Given the description of an element on the screen output the (x, y) to click on. 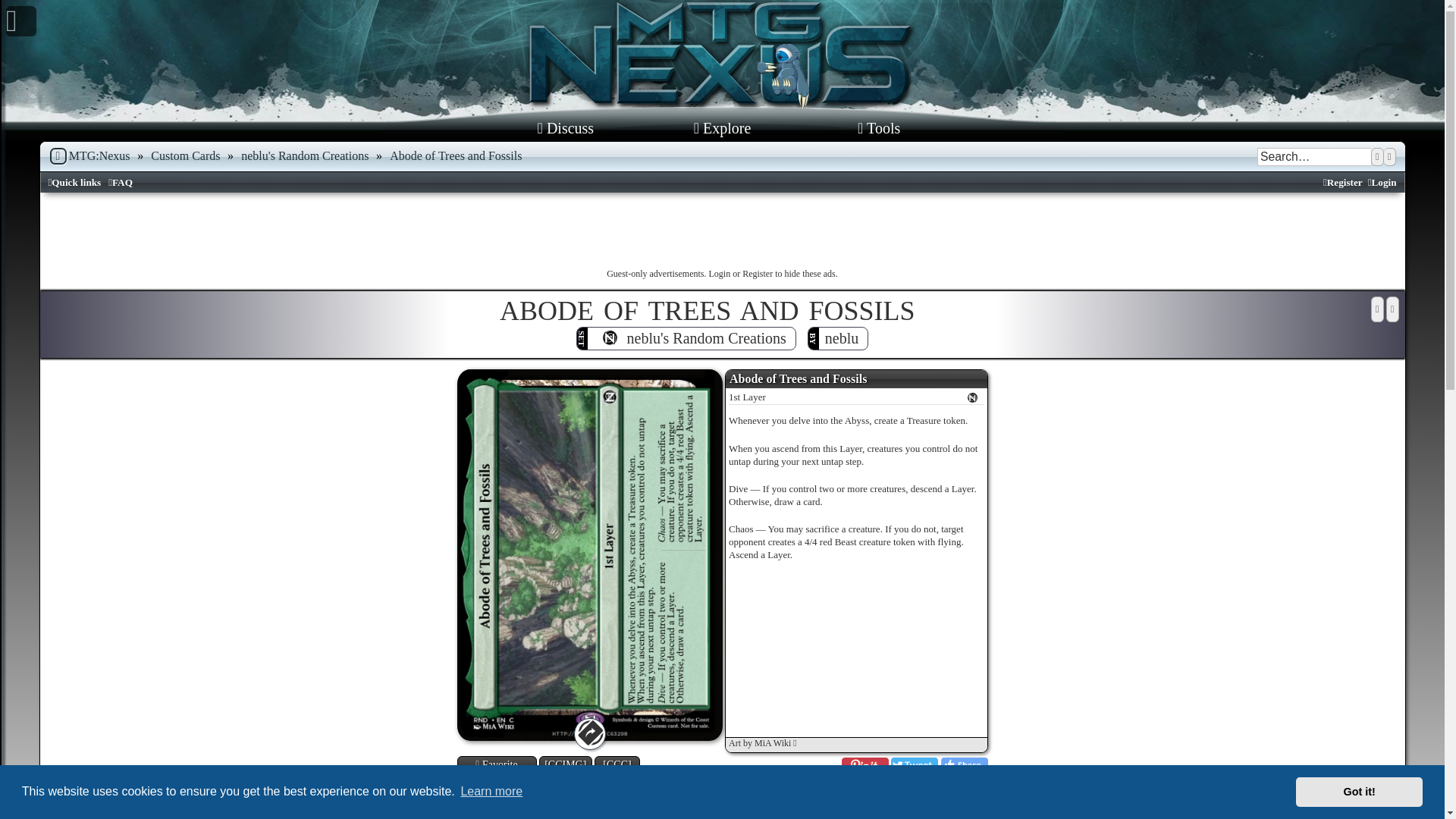
Custom Cards (185, 155)
Search for keywords (1314, 157)
Register (1342, 182)
Abode of Trees and Fossils (455, 155)
Frequently Asked Questions (119, 182)
MTGNexus Homepage (722, 47)
neblu's Random Creations (304, 155)
MTG:Nexus (89, 156)
Got it! (1358, 791)
Learn more (491, 791)
Login (1382, 182)
Advertisement (721, 233)
